Given the description of an element on the screen output the (x, y) to click on. 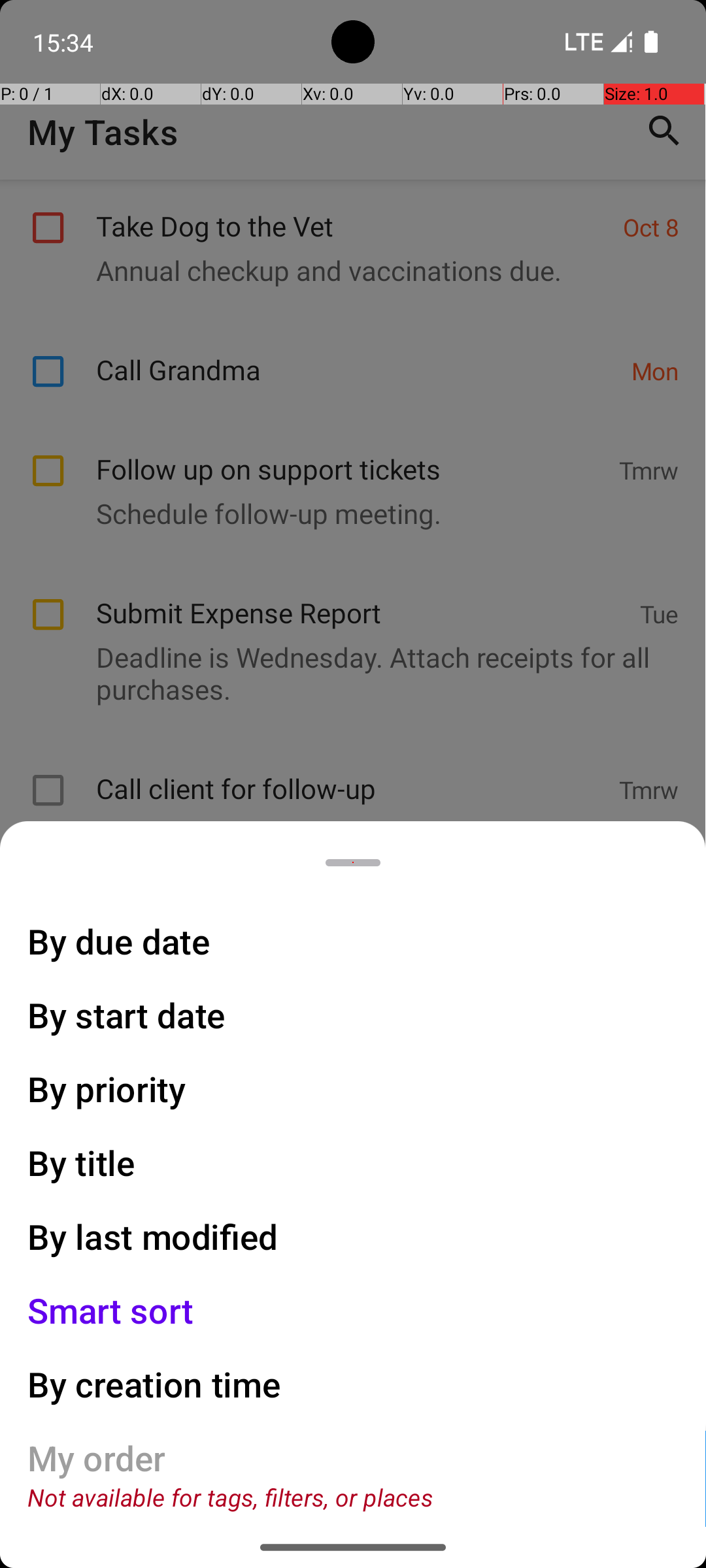
Drag handle Element type: android.view.View (352, 862)
By due date Element type: android.widget.TextView (119, 940)
By start date Element type: android.widget.TextView (126, 1014)
By priority Element type: android.widget.TextView (106, 1088)
By title Element type: android.widget.TextView (81, 1162)
By last modified Element type: android.widget.TextView (152, 1236)
Smart sort Element type: android.widget.TextView (110, 1310)
By creation time Element type: android.widget.TextView (154, 1383)
My order Element type: android.widget.TextView (96, 1457)
Not available for tags, filters, or places Element type: android.widget.TextView (230, 1497)
